Given the description of an element on the screen output the (x, y) to click on. 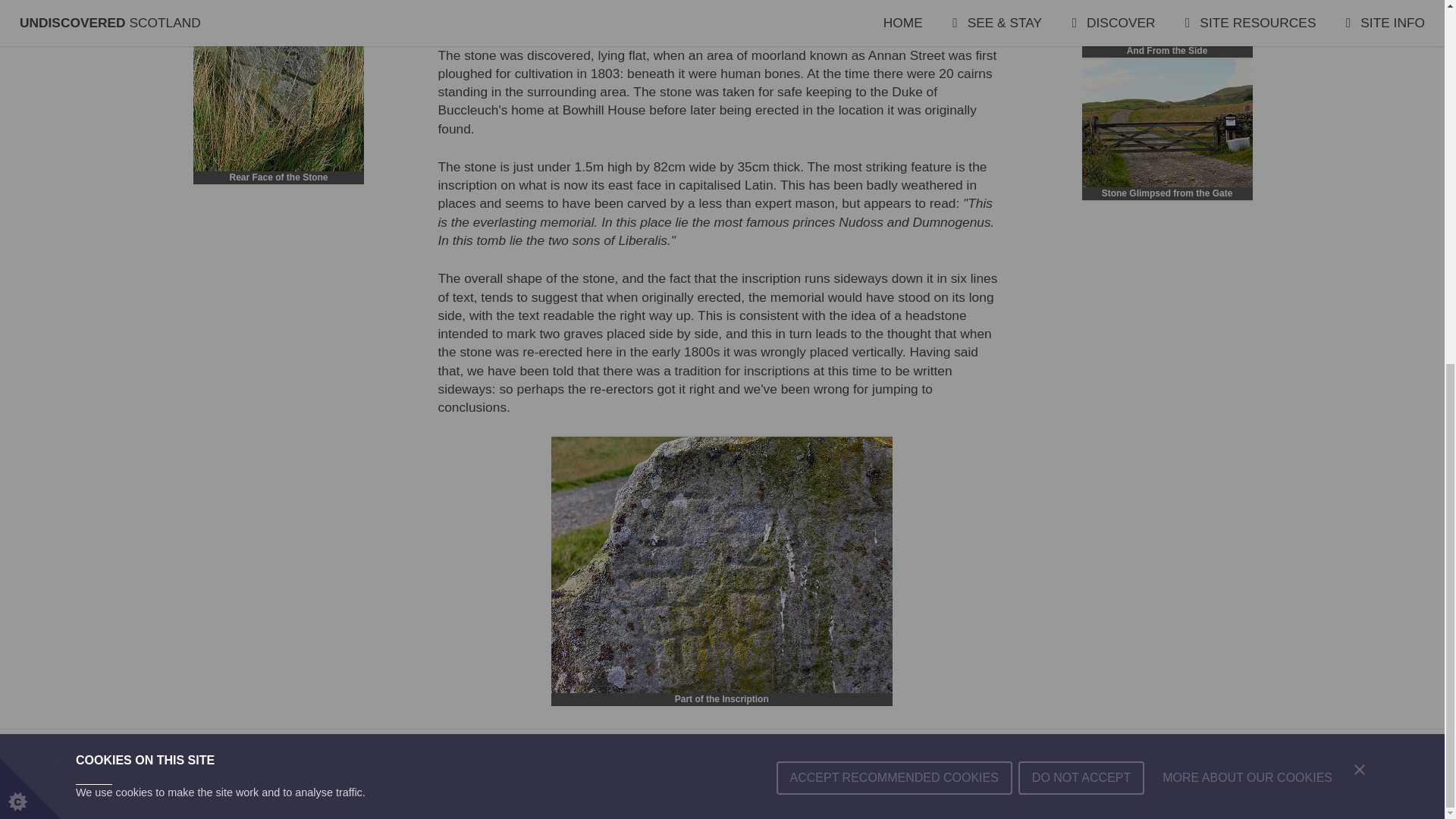
MORE ABOUT OUR COOKIES (1246, 142)
ACCEPT RECOMMENDED COOKIES (893, 155)
DO NOT ACCEPT (1080, 150)
